Given the description of an element on the screen output the (x, y) to click on. 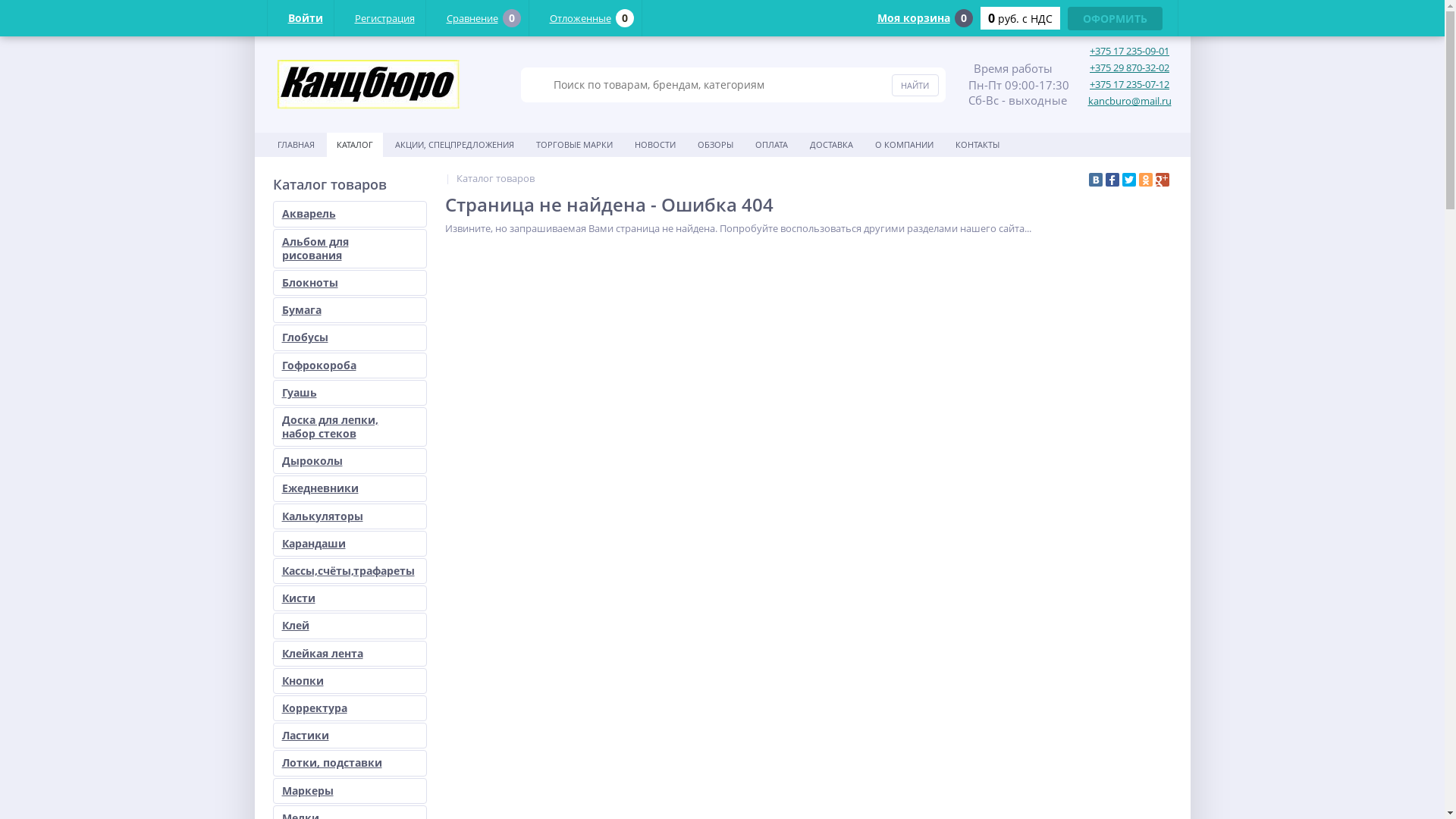
Facebook Element type: hover (1112, 179)
kancburo@mail.ru Element type: text (1128, 100)
Google Plus Element type: hover (1162, 179)
+375 17 235-07-12 Element type: text (1129, 84)
+375 29 870-32-02 Element type: text (1129, 67)
Twitter Element type: hover (1128, 179)
+375 17 235-09-01 Element type: text (1129, 50)
